Given the description of an element on the screen output the (x, y) to click on. 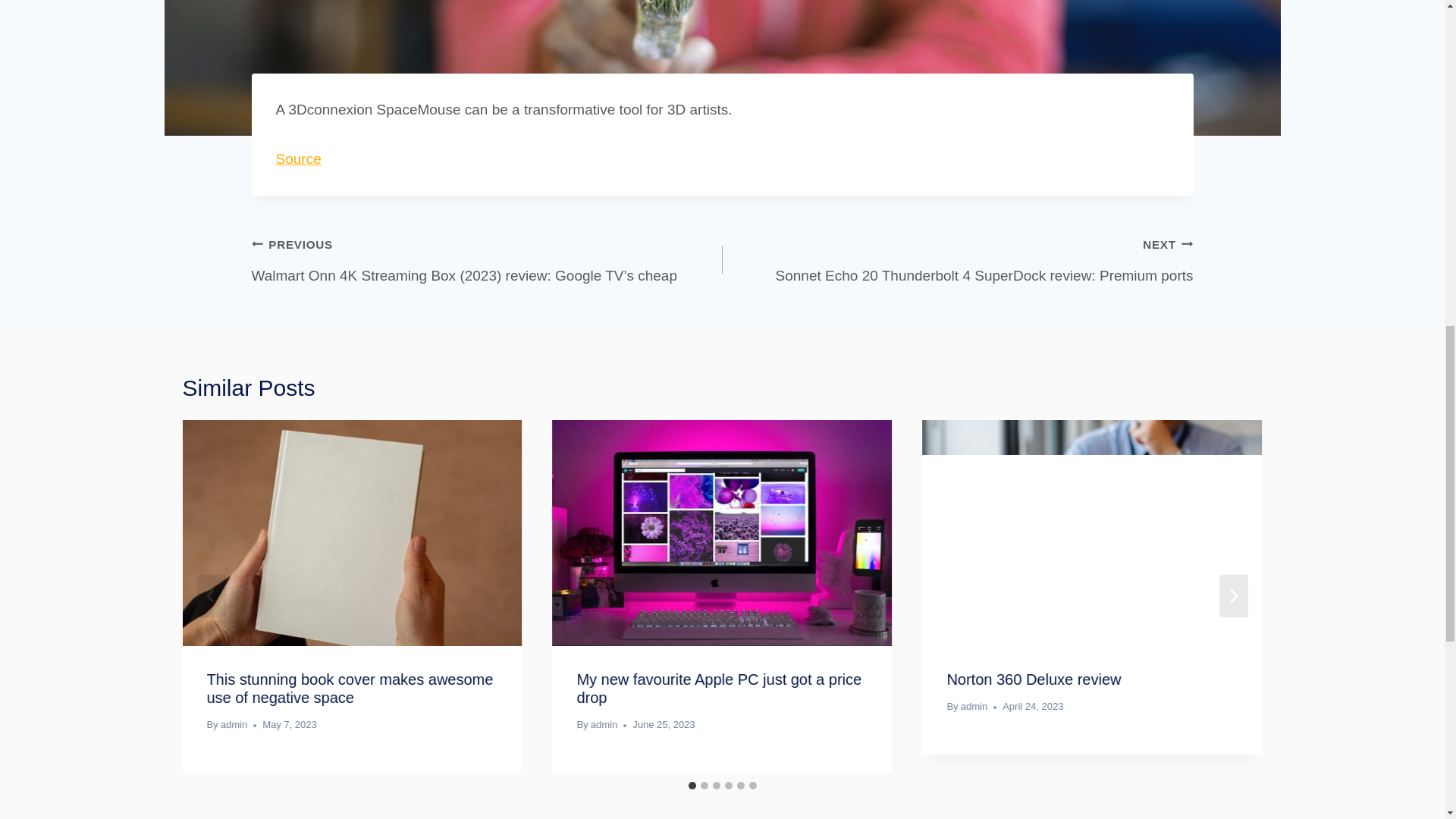
Source (298, 158)
